Given the description of an element on the screen output the (x, y) to click on. 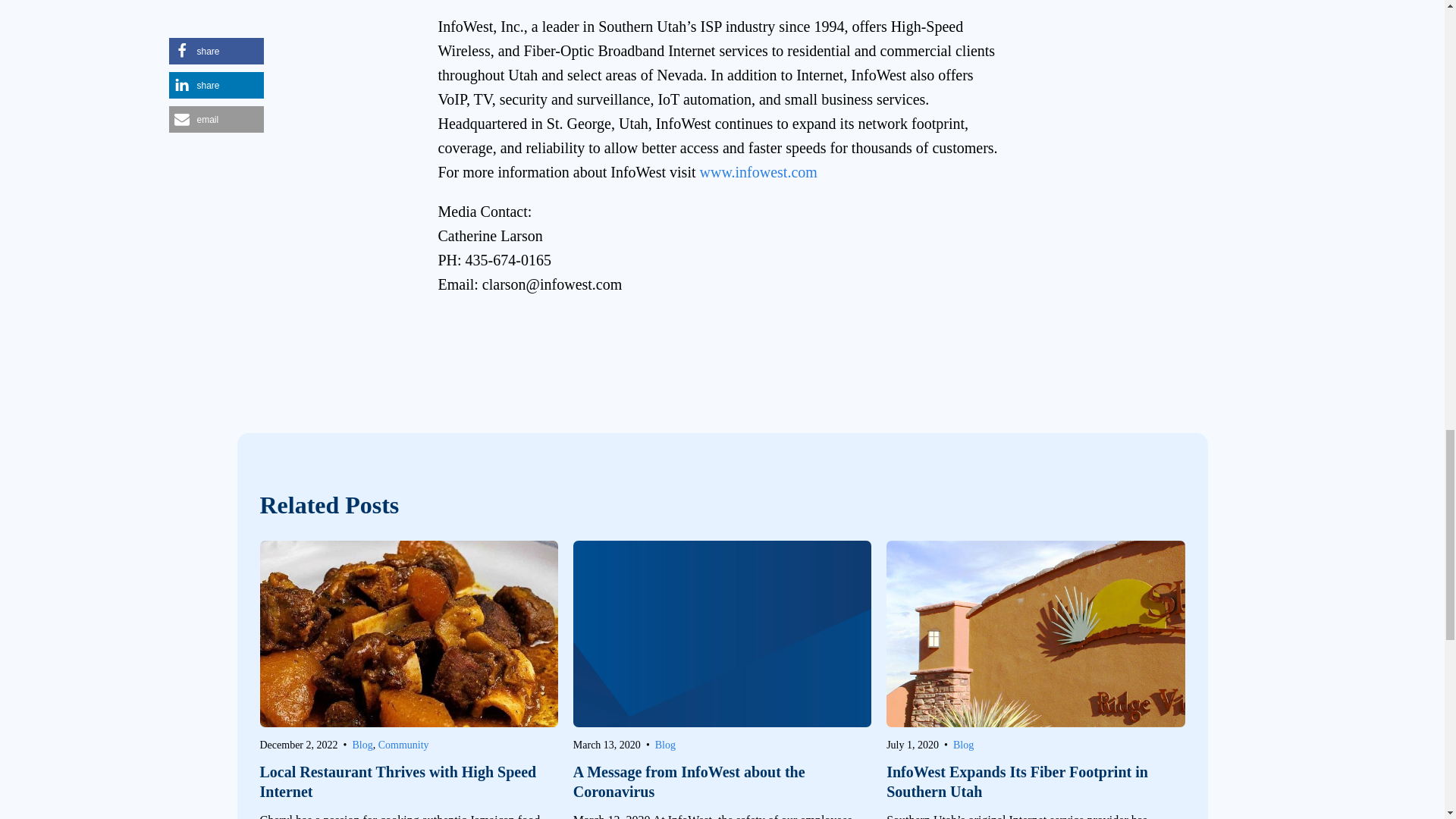
www.infowest.com (757, 171)
Community (403, 744)
Local Restaurant Thrives with High Speed Internet (408, 781)
Blog (362, 744)
